Given the description of an element on the screen output the (x, y) to click on. 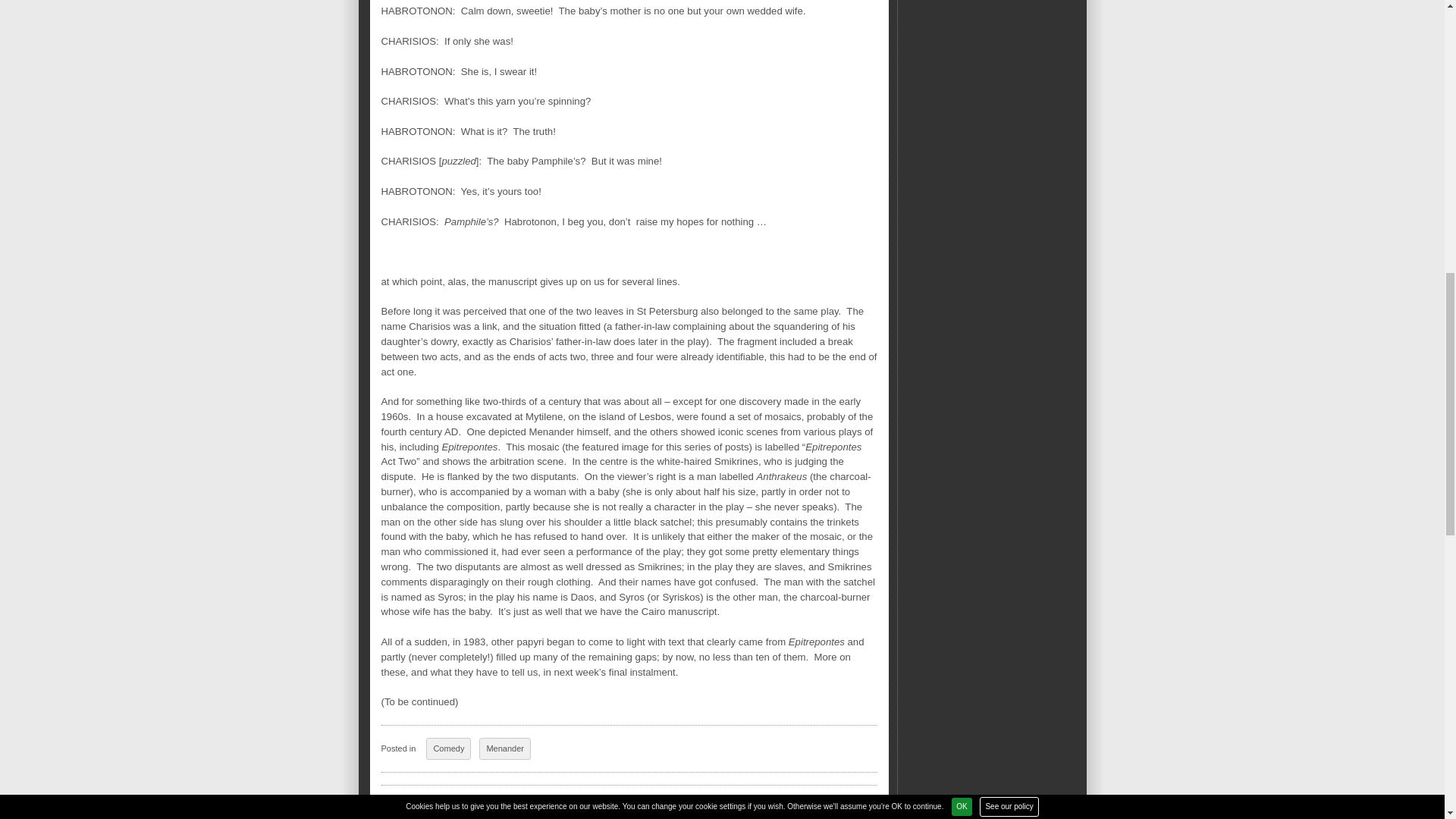
Comedy (448, 748)
Menander (505, 748)
